Given the description of an element on the screen output the (x, y) to click on. 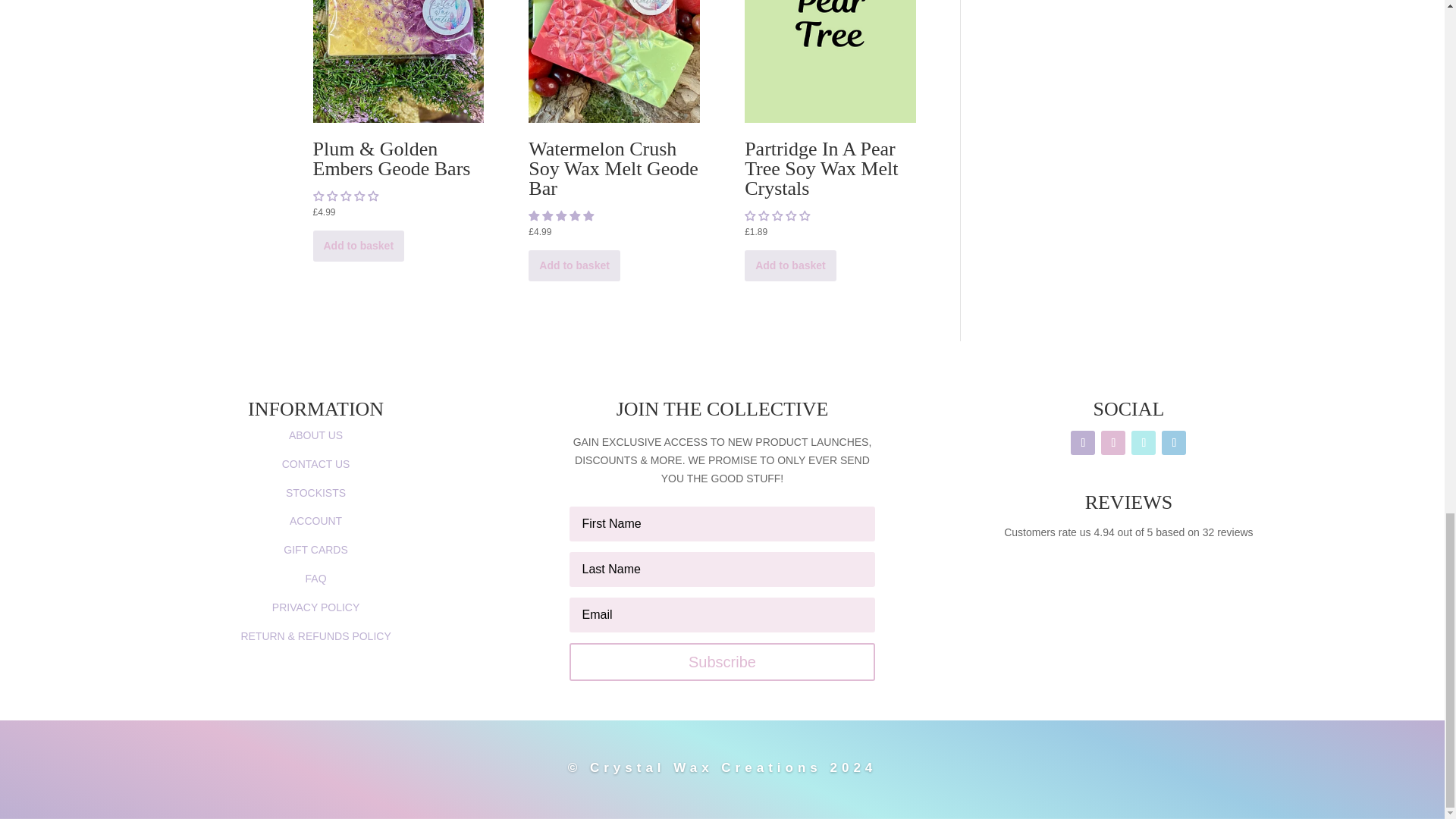
Follow on Facebook (1082, 442)
Follow on TikTok (1173, 442)
Follow on Instagram (1112, 442)
Follow on Pinterest (1143, 442)
